Given the description of an element on the screen output the (x, y) to click on. 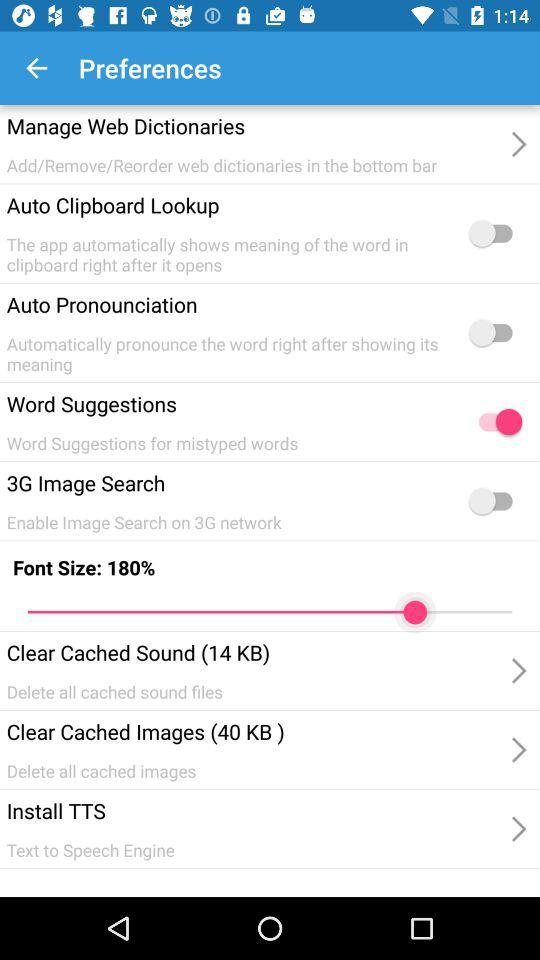
turn off word suggestions (495, 421)
